Given the description of an element on the screen output the (x, y) to click on. 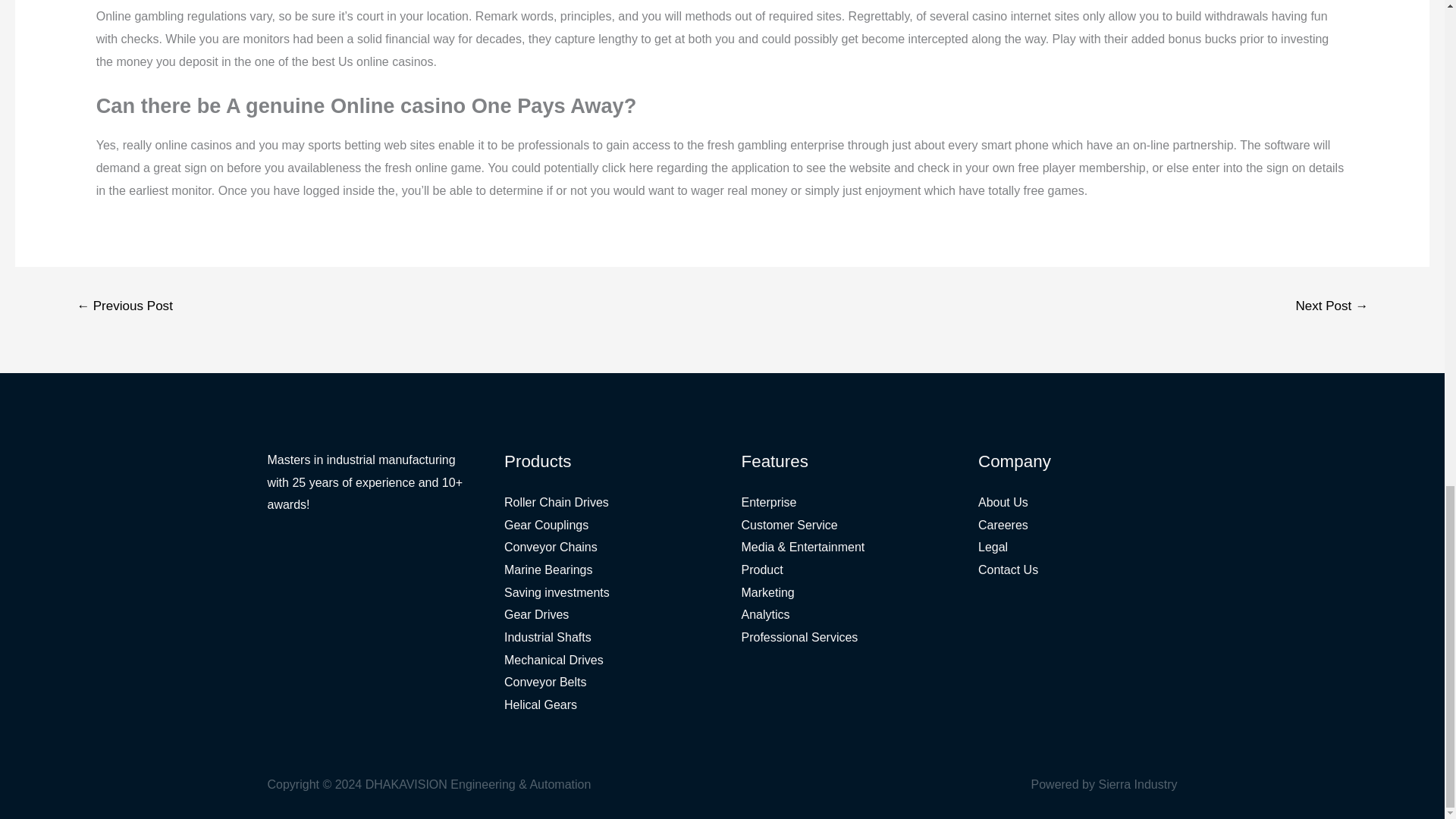
Conveyor Chains (549, 546)
Saving investments (556, 592)
Helical Gears (539, 704)
Customer Service (789, 524)
Gear Drives (536, 614)
Gear Couplings (545, 524)
Enterprise (768, 502)
Marine Bearings (547, 569)
Industrial Shafts (547, 636)
Roller Chain Drives (555, 502)
